Given the description of an element on the screen output the (x, y) to click on. 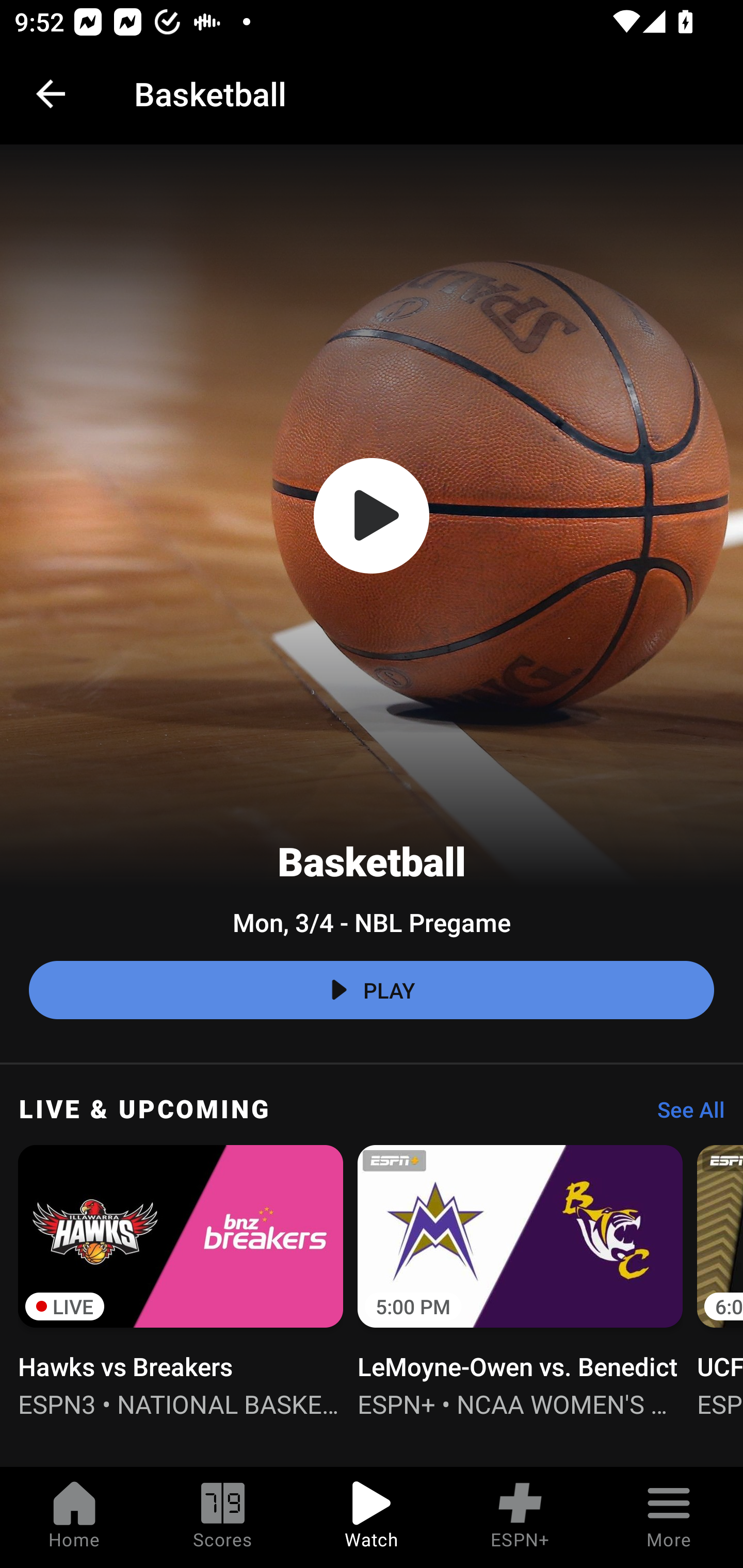
 (371, 515)
PLAY (371, 990)
See All (683, 1114)
Home (74, 1517)
Scores (222, 1517)
ESPN+ (519, 1517)
More (668, 1517)
